Given the description of an element on the screen output the (x, y) to click on. 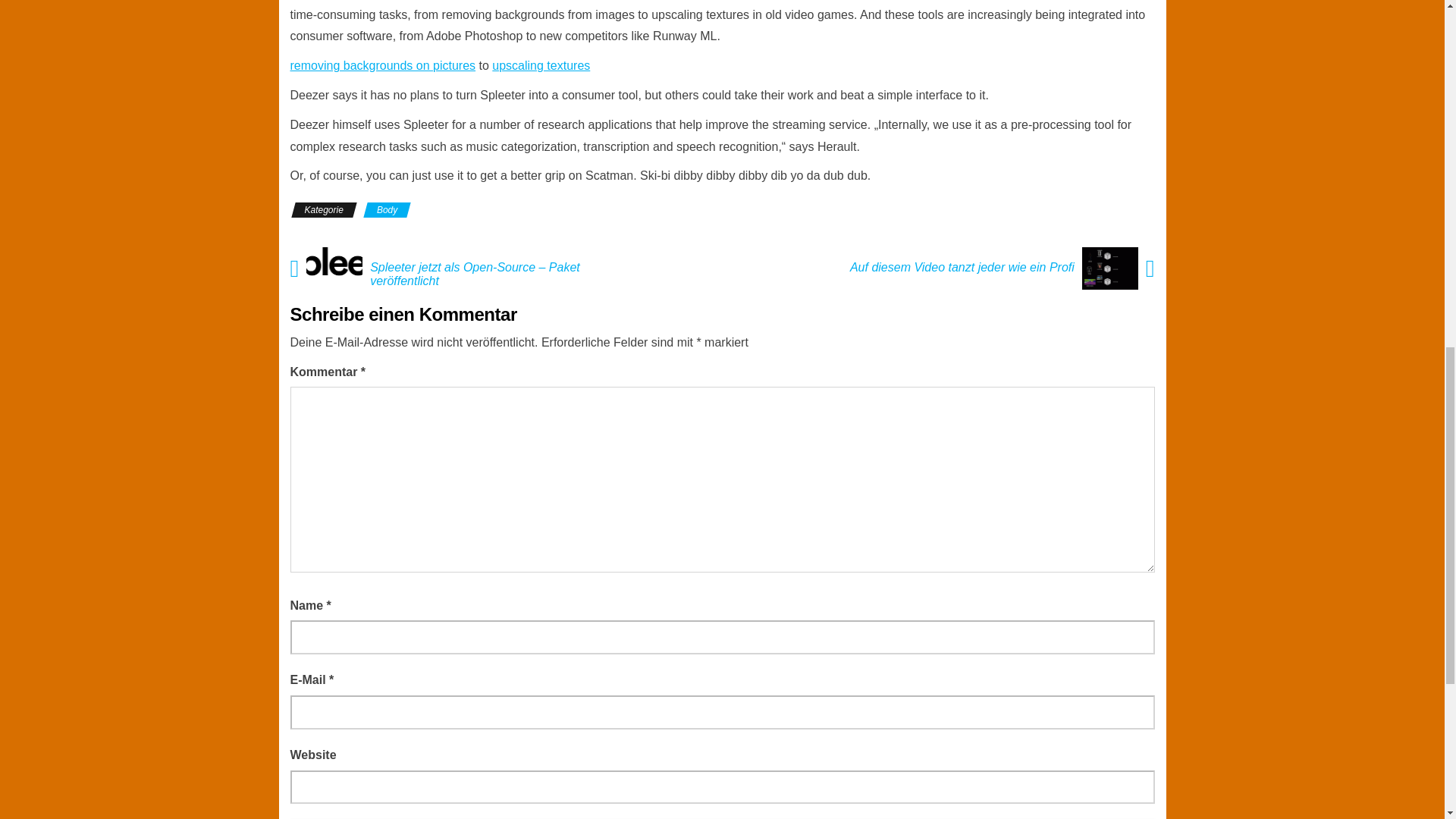
Auf diesem Video tanzt jeder wie ein Profi (958, 267)
removing backgrounds on pictures (382, 65)
upscaling textures (540, 65)
Body (387, 209)
